Given the description of an element on the screen output the (x, y) to click on. 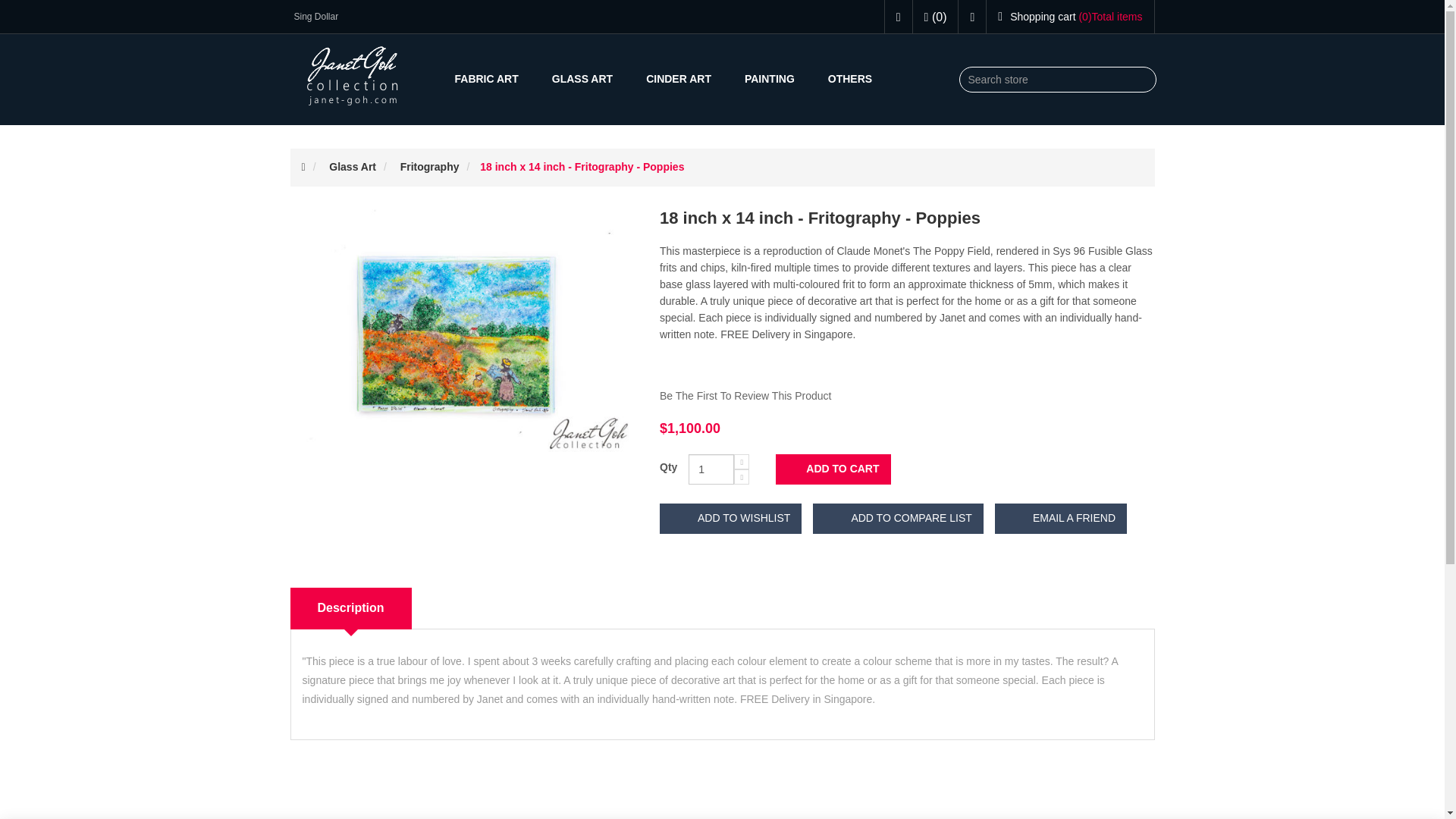
Add to cart (832, 469)
OTHERS (849, 79)
FABRIC ART (486, 79)
1 (710, 469)
PAINTING (769, 79)
GLASS ART (581, 79)
Add to wishlist (730, 518)
Picture of 18 inch x 14 inch - Fritography - Poppies (463, 330)
CINDER ART (678, 79)
Email a friend (1060, 518)
Picture of 18 inch x 14 inch - Fritography - Poppies (463, 329)
Fritography (430, 166)
Description (349, 608)
Add to compare list (897, 518)
Be The First To Review This Product (745, 395)
